Given the description of an element on the screen output the (x, y) to click on. 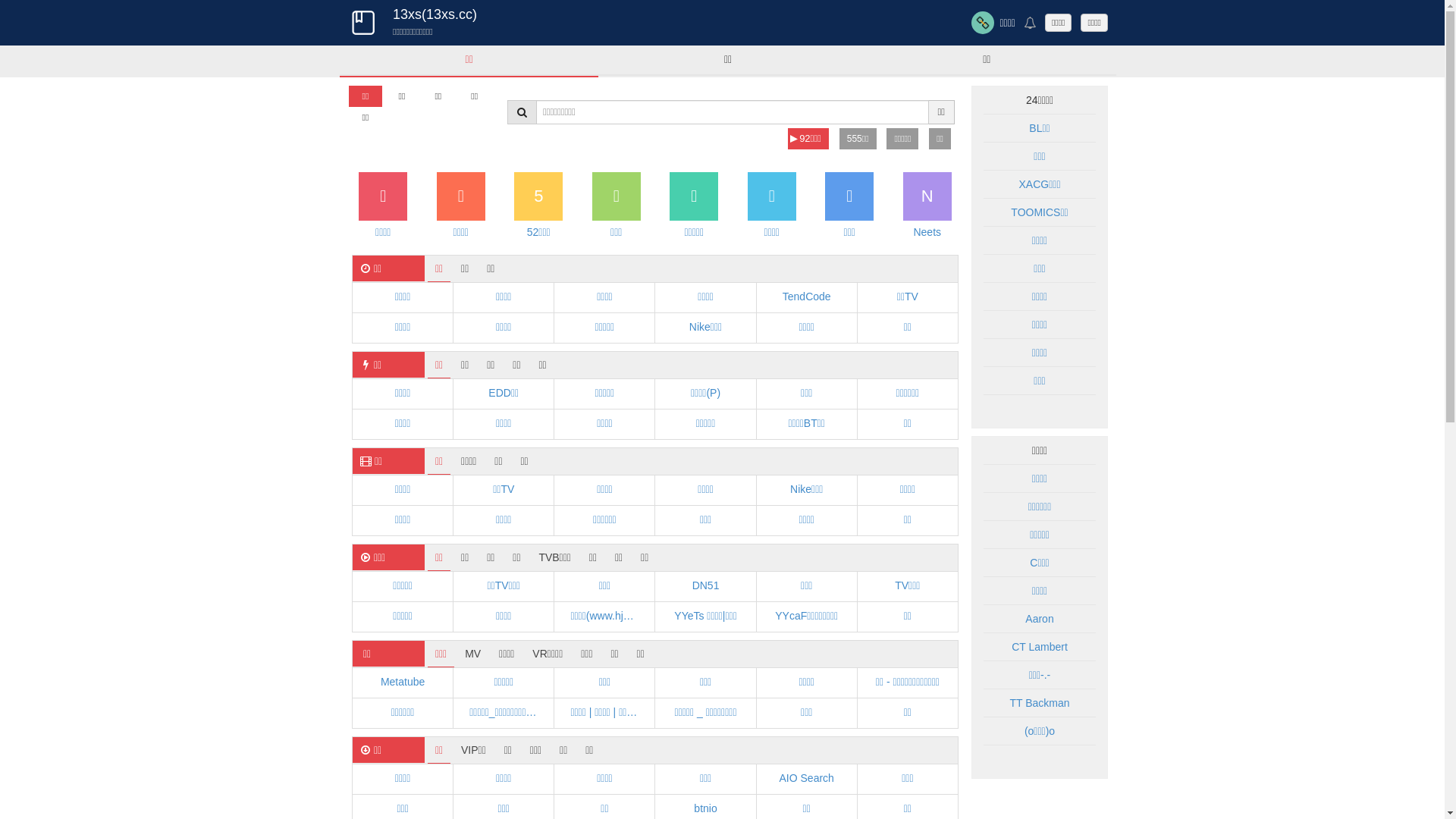
TendCode Element type: text (806, 296)
TT Backman Element type: text (1039, 702)
MV Element type: text (472, 653)
AIO Search Element type: text (806, 777)
Metatube Element type: text (402, 681)
CT Lambert Element type: text (1039, 646)
N
Neets Element type: text (927, 215)
13xs(13xs.cc) Element type: hover (362, 22)
btnio Element type: text (704, 808)
Aaron Element type: text (1039, 618)
DN51 Element type: text (704, 585)
13xs(13xs.cc) Element type: text (434, 14)
